Given the description of an element on the screen output the (x, y) to click on. 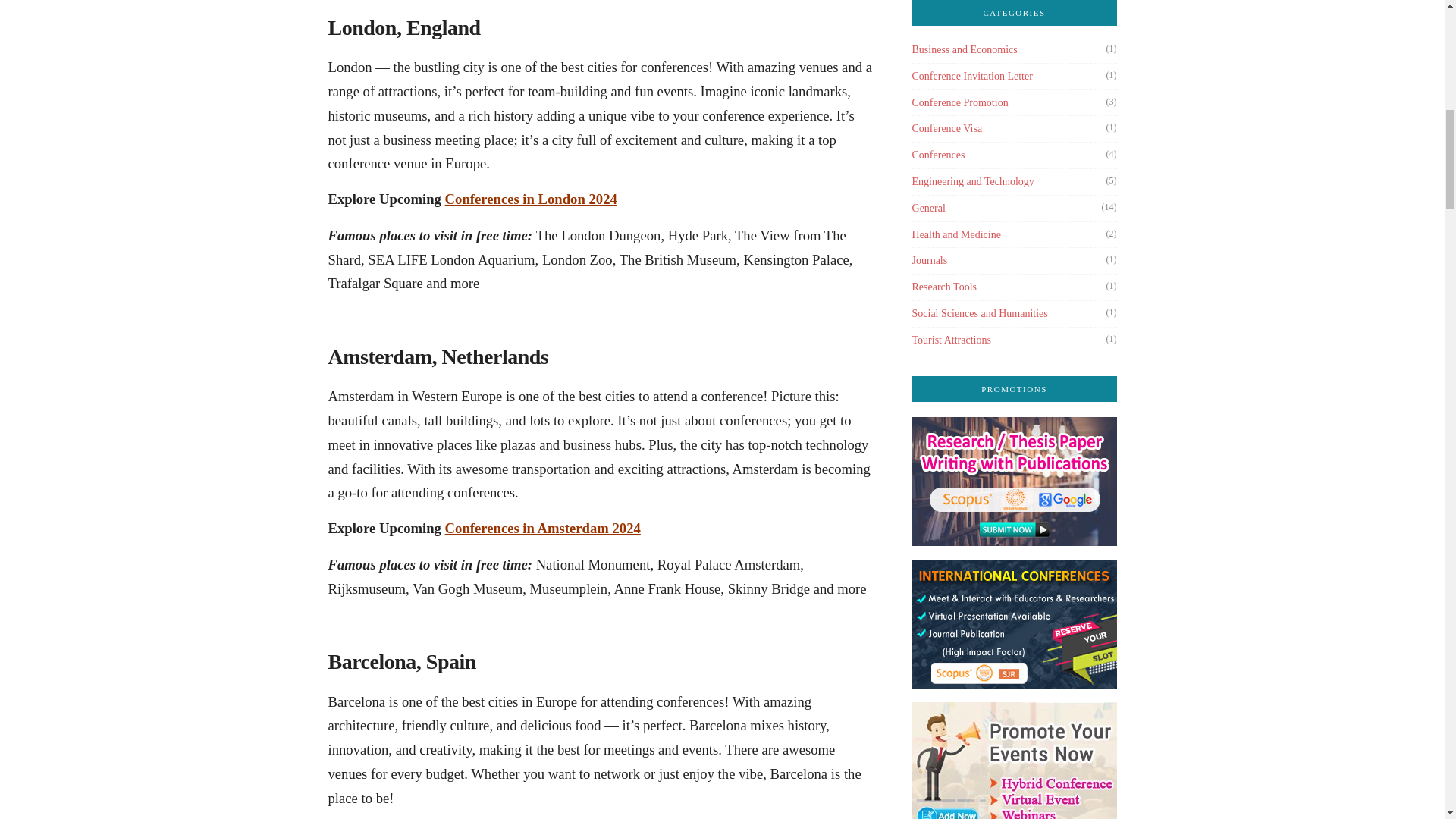
Conferences in Amsterdam 2024 (542, 528)
Conferences in London 2024 (531, 198)
